Given the description of an element on the screen output the (x, y) to click on. 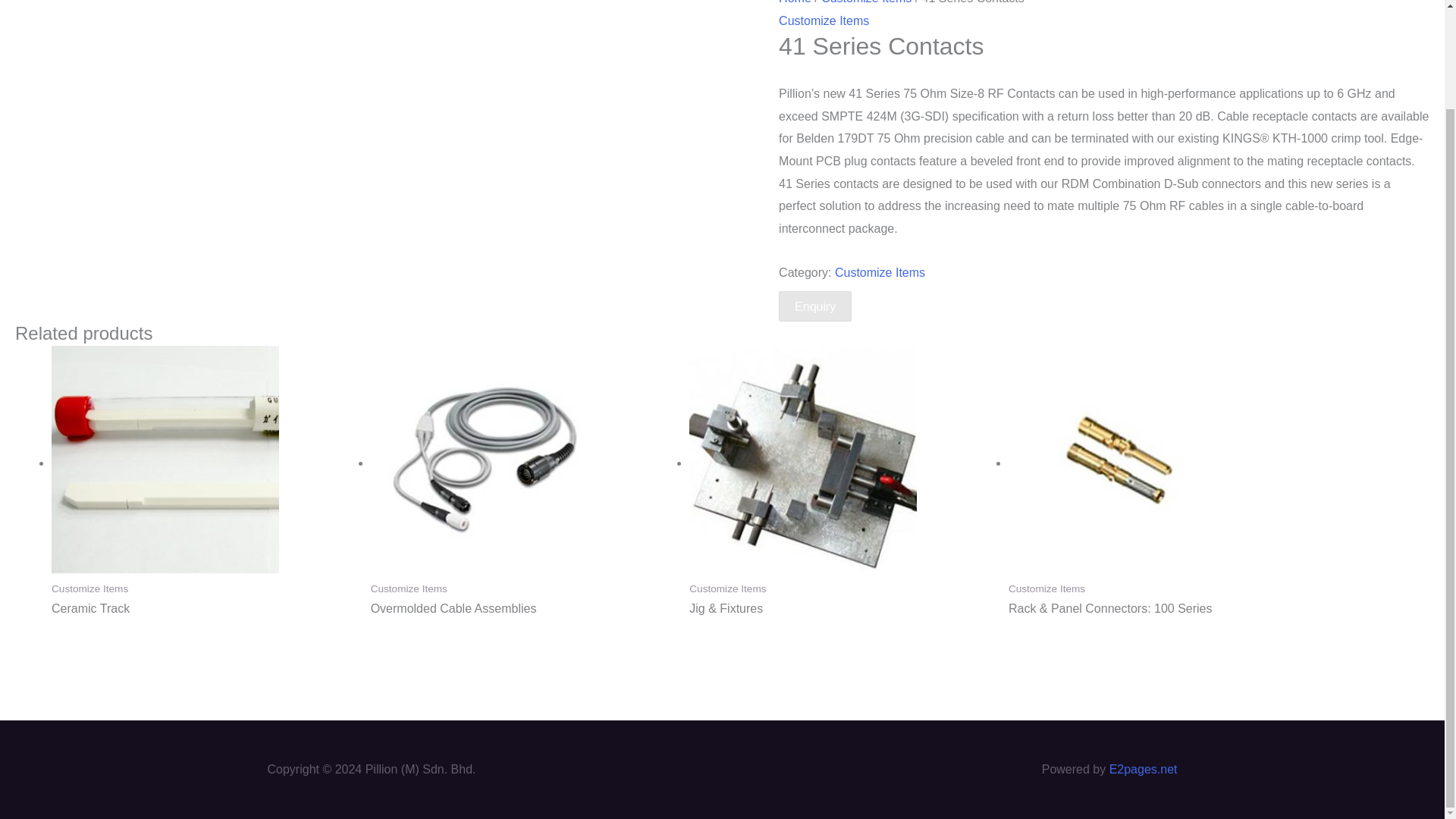
Customize Items (823, 20)
Customize Items (866, 2)
Home (794, 2)
Ceramic Track (202, 609)
Overmolded Cable Assemblies (523, 609)
Enquiry (814, 306)
Customize Items (879, 272)
